Given the description of an element on the screen output the (x, y) to click on. 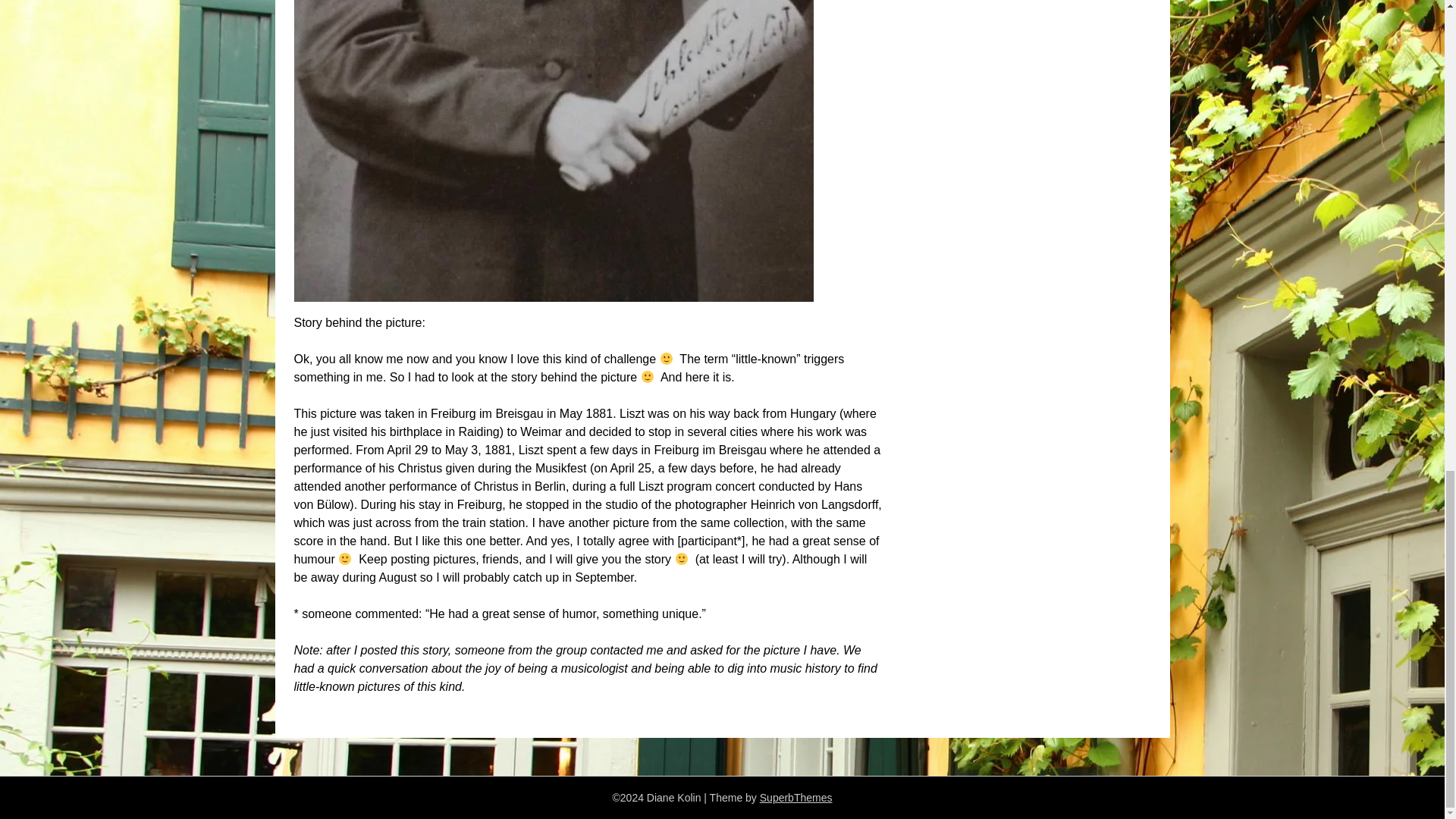
SuperbThemes (796, 797)
